Given the description of an element on the screen output the (x, y) to click on. 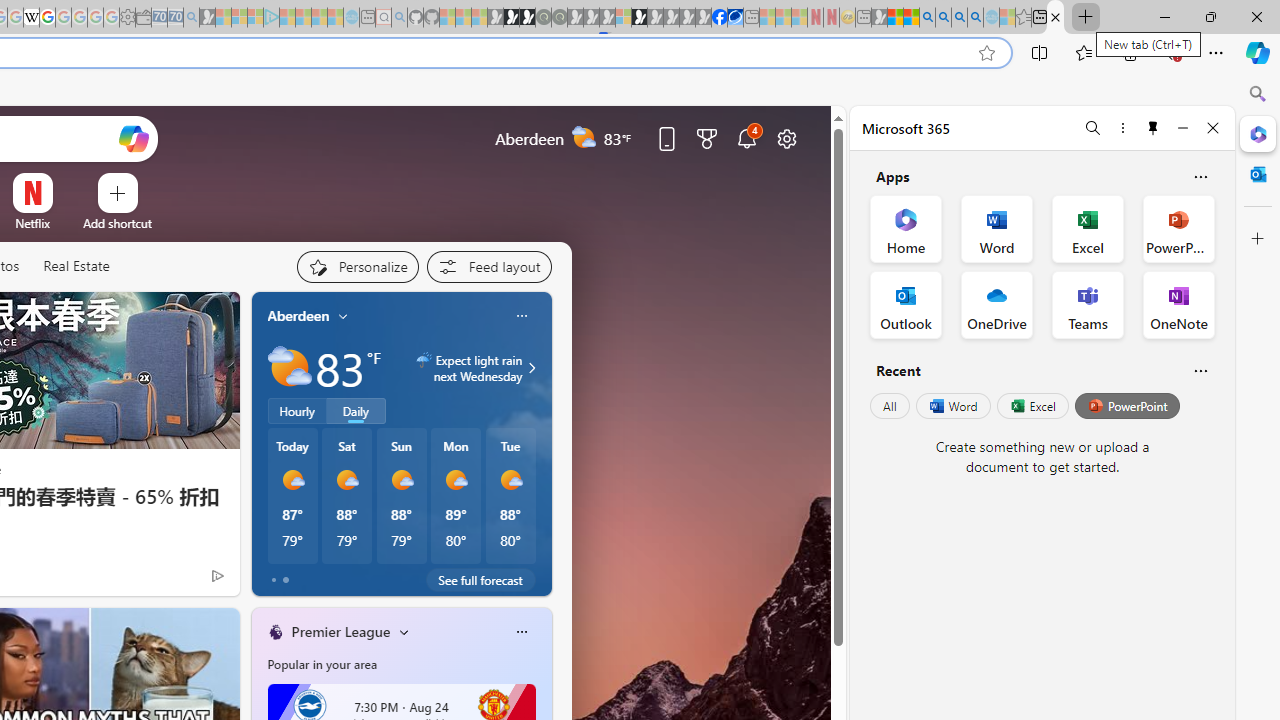
Close Customize pane (1258, 239)
Microsoft rewards (707, 138)
tab-0 (273, 579)
Word Office App (996, 228)
Real Estate (75, 267)
Notifications (746, 138)
